Given the description of an element on the screen output the (x, y) to click on. 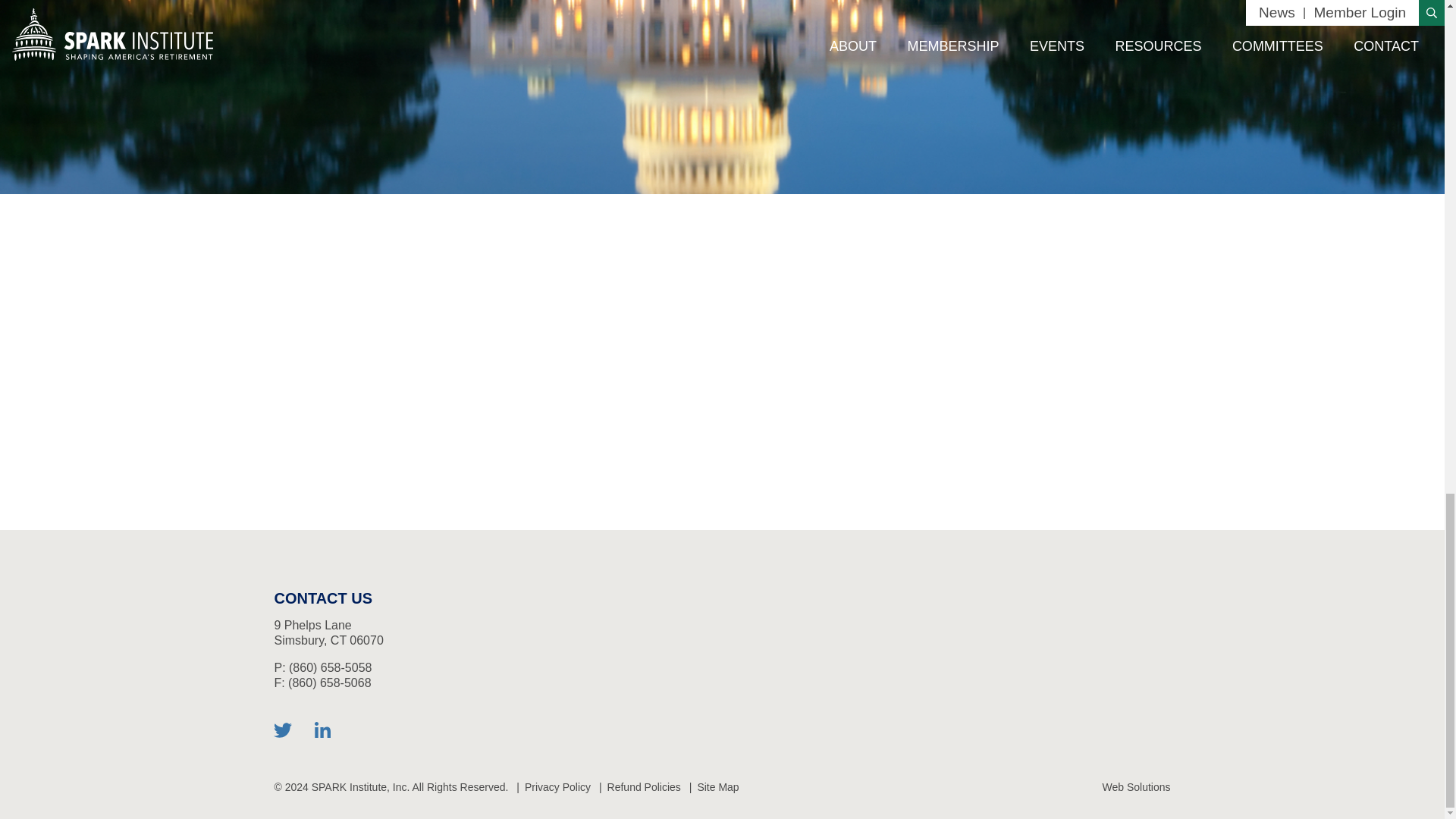
Connect with us on LinkedIn (322, 730)
Follow us on Twitter (282, 730)
